Given the description of an element on the screen output the (x, y) to click on. 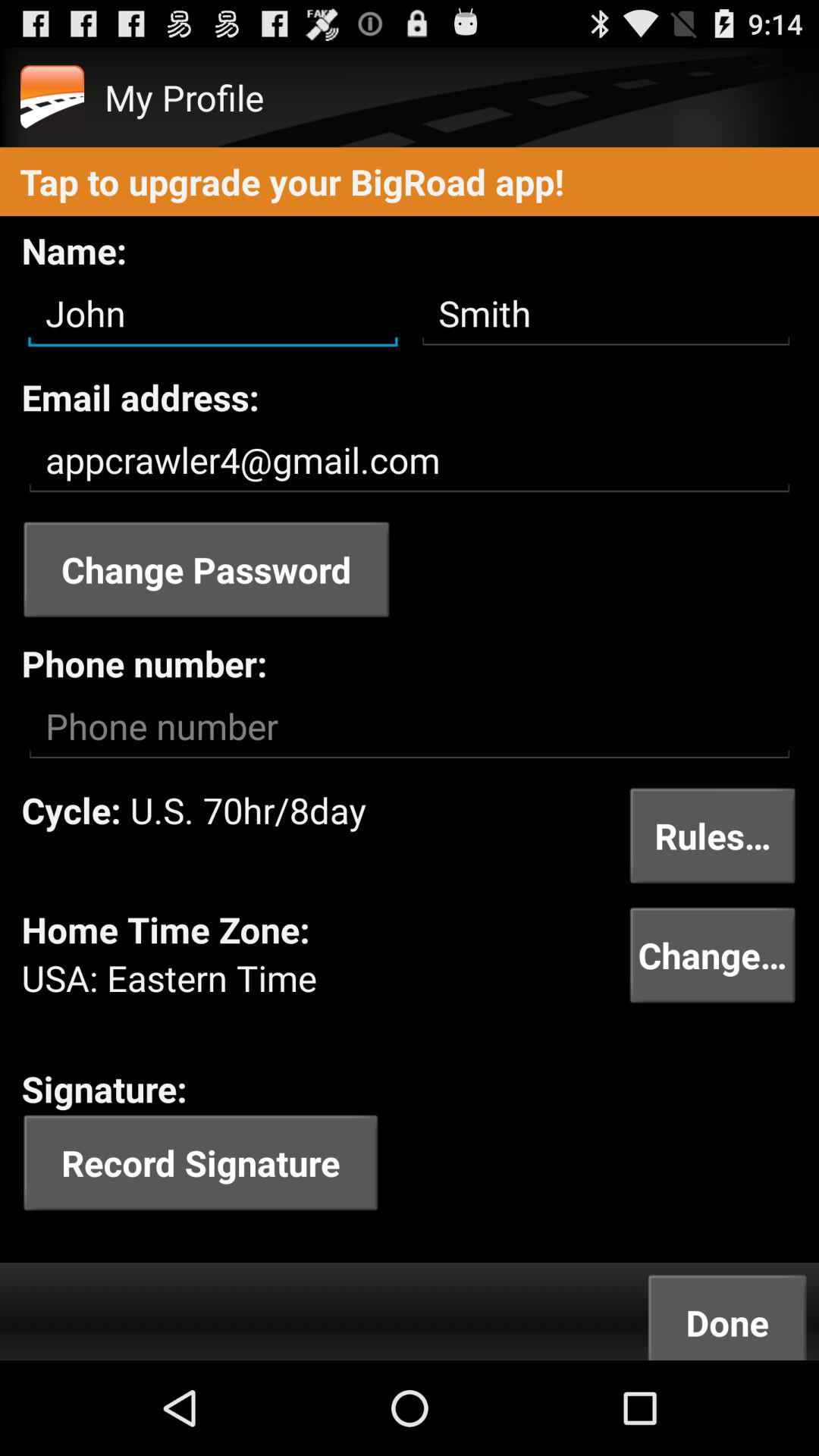
enter phone number (409, 726)
